Given the description of an element on the screen output the (x, y) to click on. 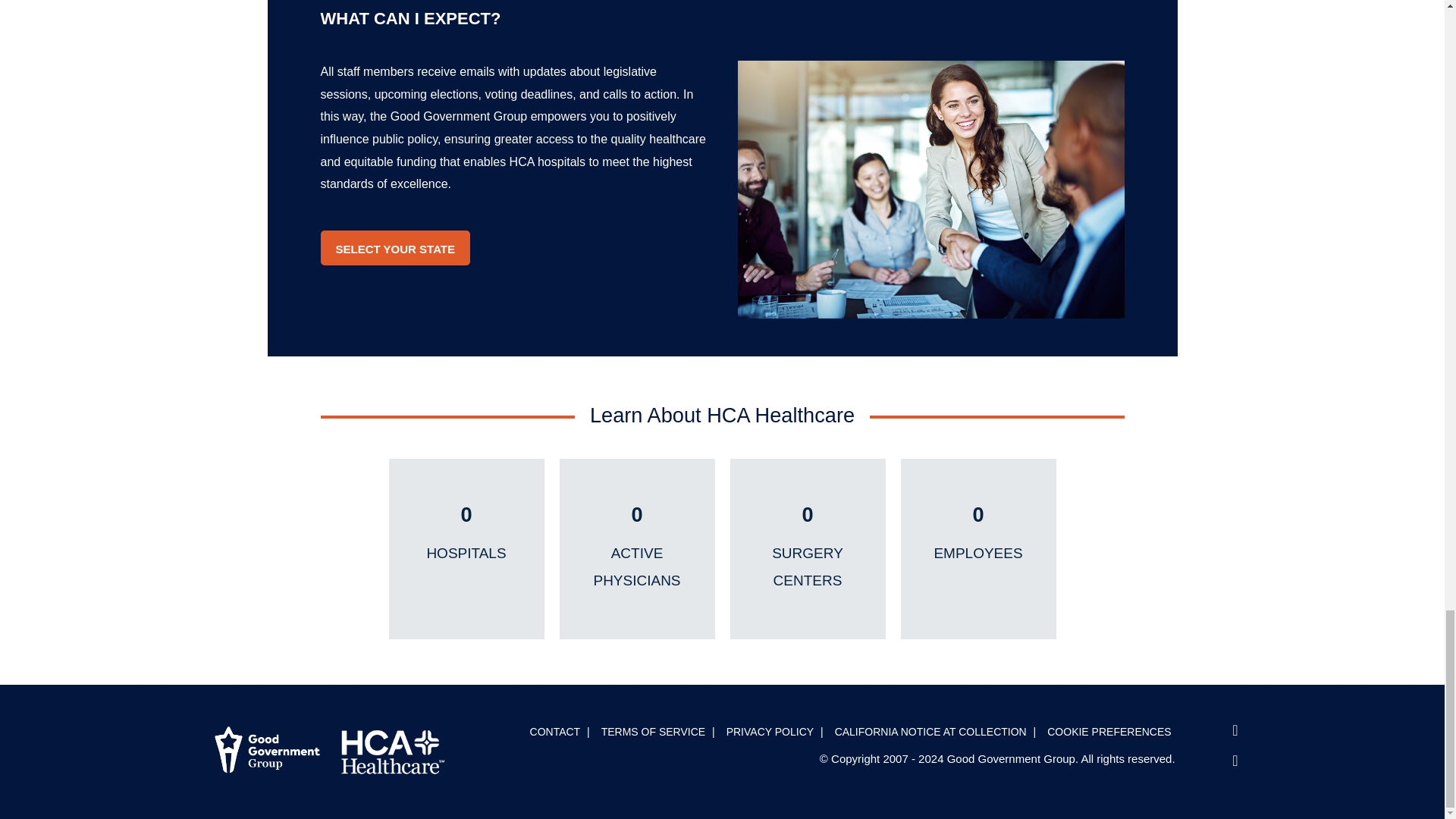
how-join (930, 189)
SELECT YOUR STATE (395, 248)
